Given the description of an element on the screen output the (x, y) to click on. 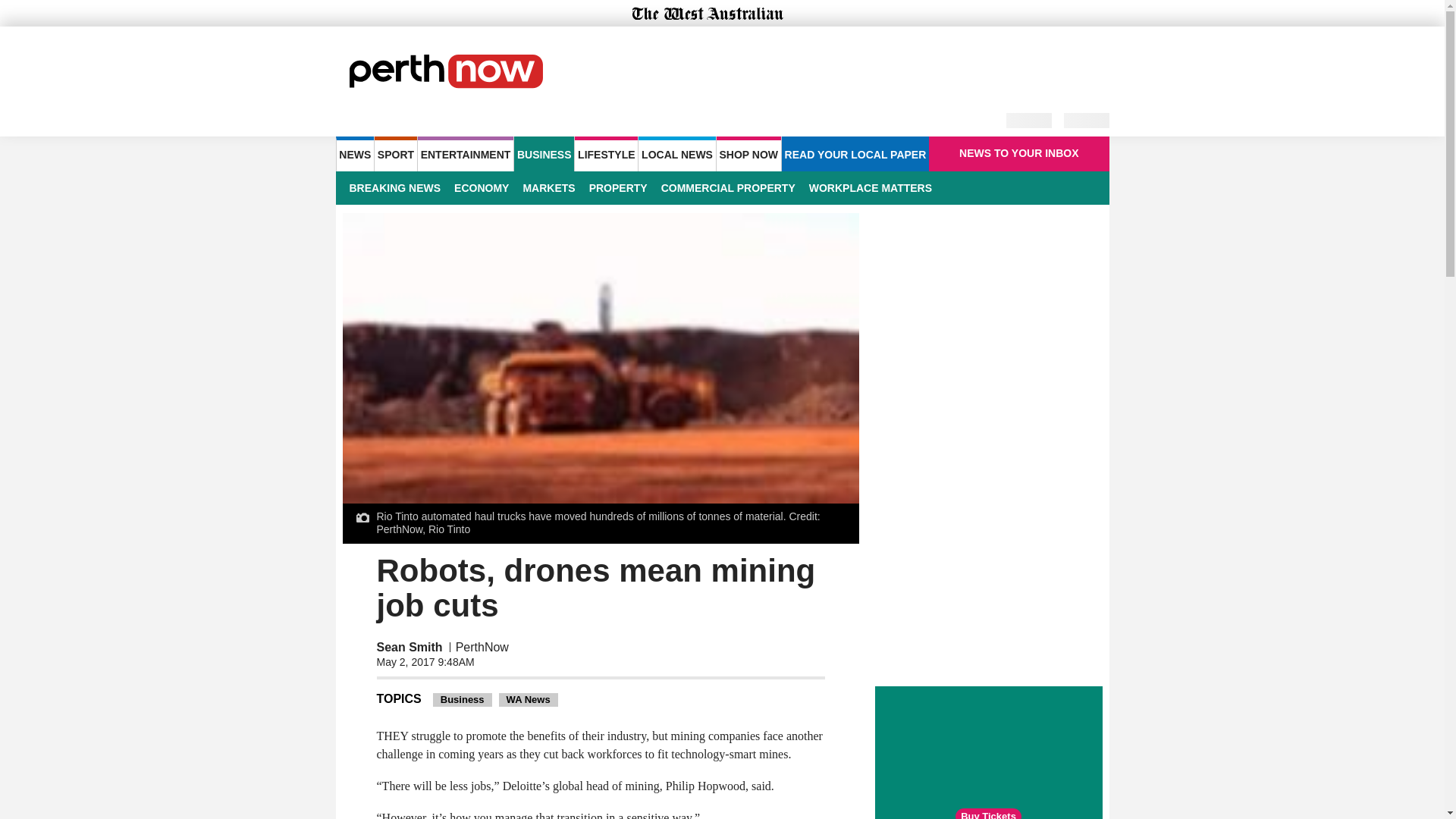
ENTERTAINMENT (465, 153)
NEWS (354, 153)
BUSINESS (543, 153)
SPORT (395, 153)
